Given the description of an element on the screen output the (x, y) to click on. 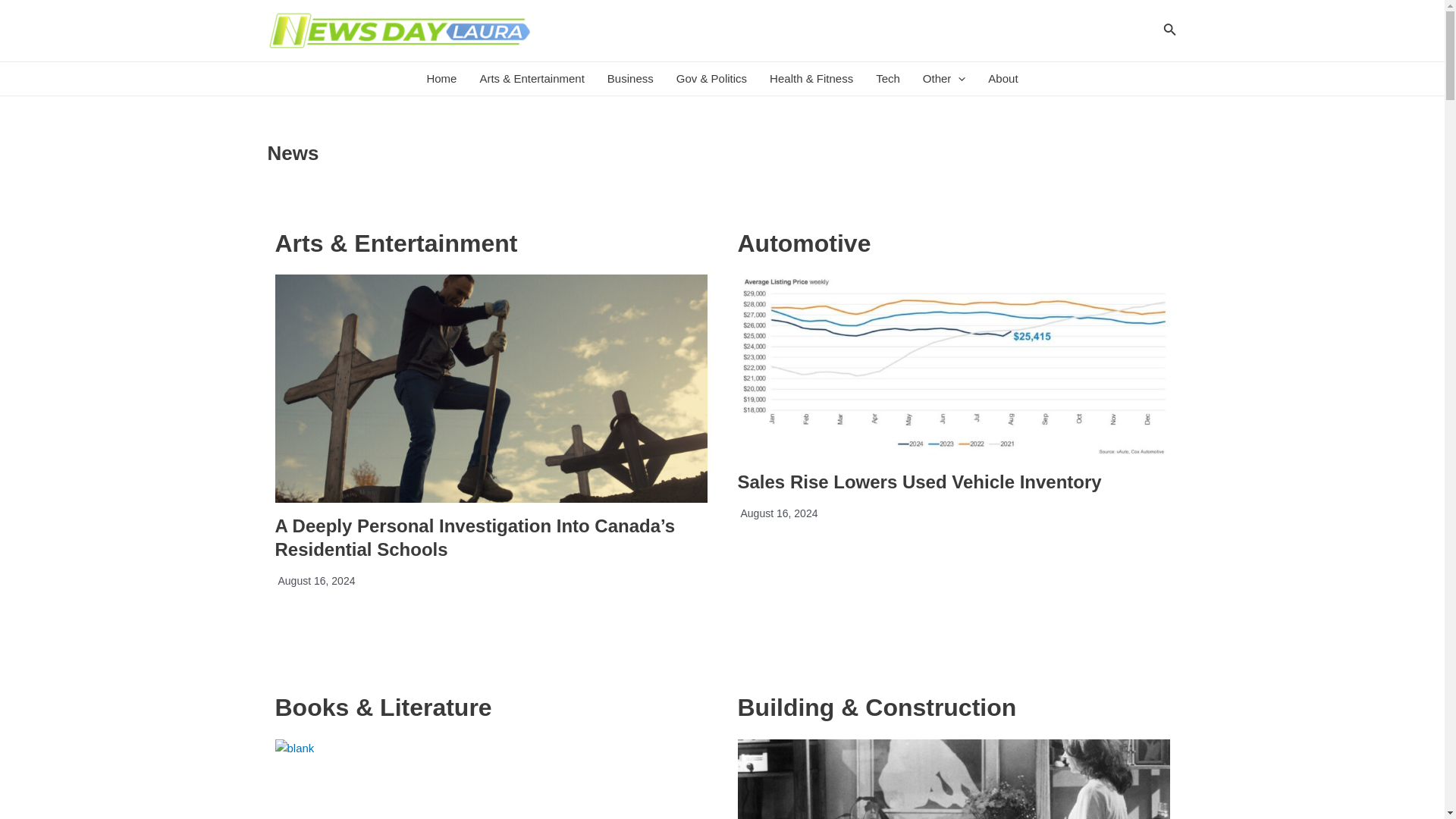
Tech (887, 78)
Home (440, 78)
Other (943, 78)
About (1002, 78)
Business (630, 78)
